Given the description of an element on the screen output the (x, y) to click on. 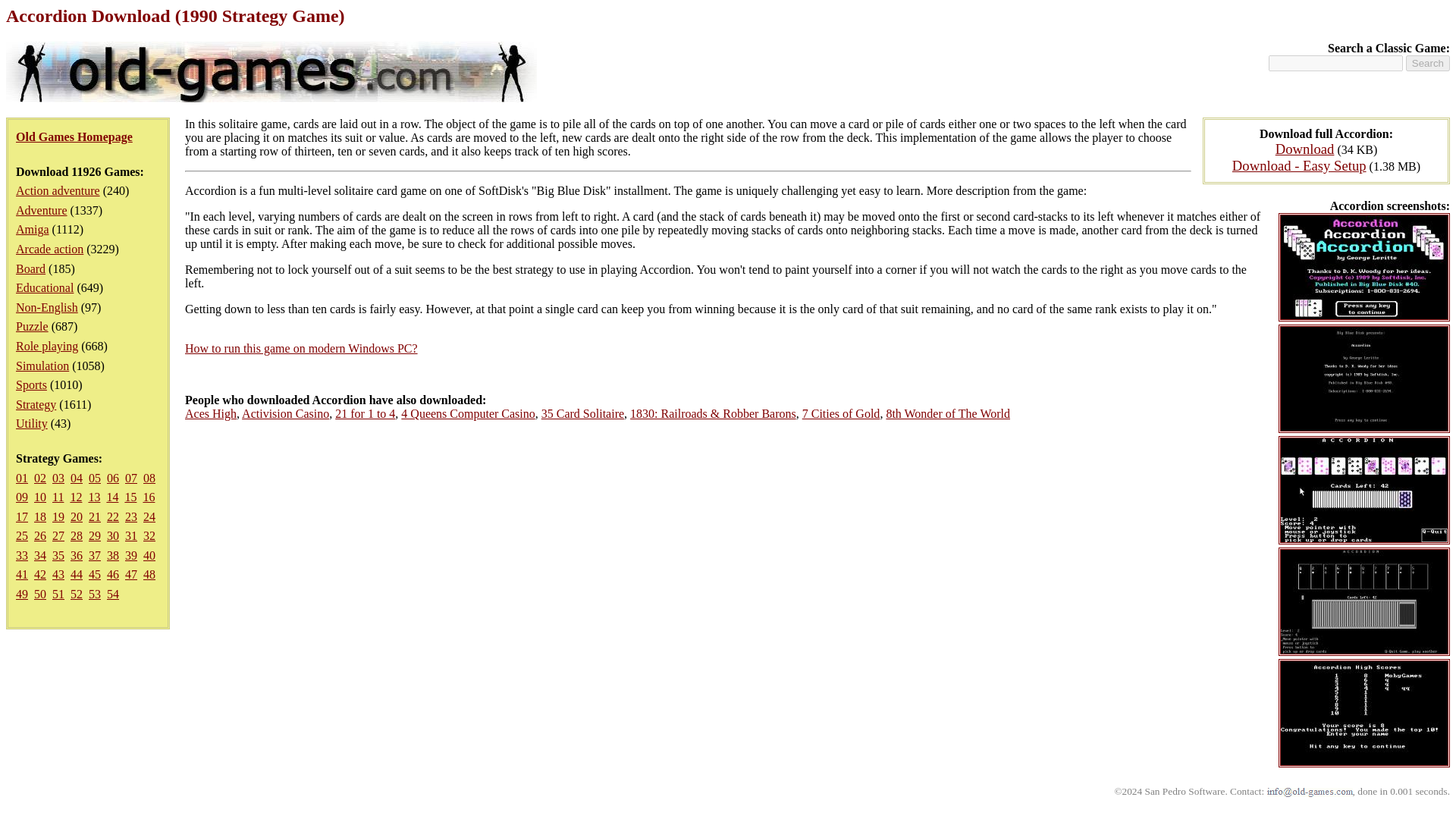
22 (112, 516)
Search (1428, 63)
Old Games Homepage (74, 136)
05 (94, 477)
Search (1428, 63)
Arcade action (49, 248)
Puzzle (32, 326)
Adventure (41, 210)
19 (58, 516)
09 (21, 496)
02 (39, 477)
17 (21, 516)
03 (58, 477)
20 (75, 516)
Simulation (42, 365)
